Given the description of an element on the screen output the (x, y) to click on. 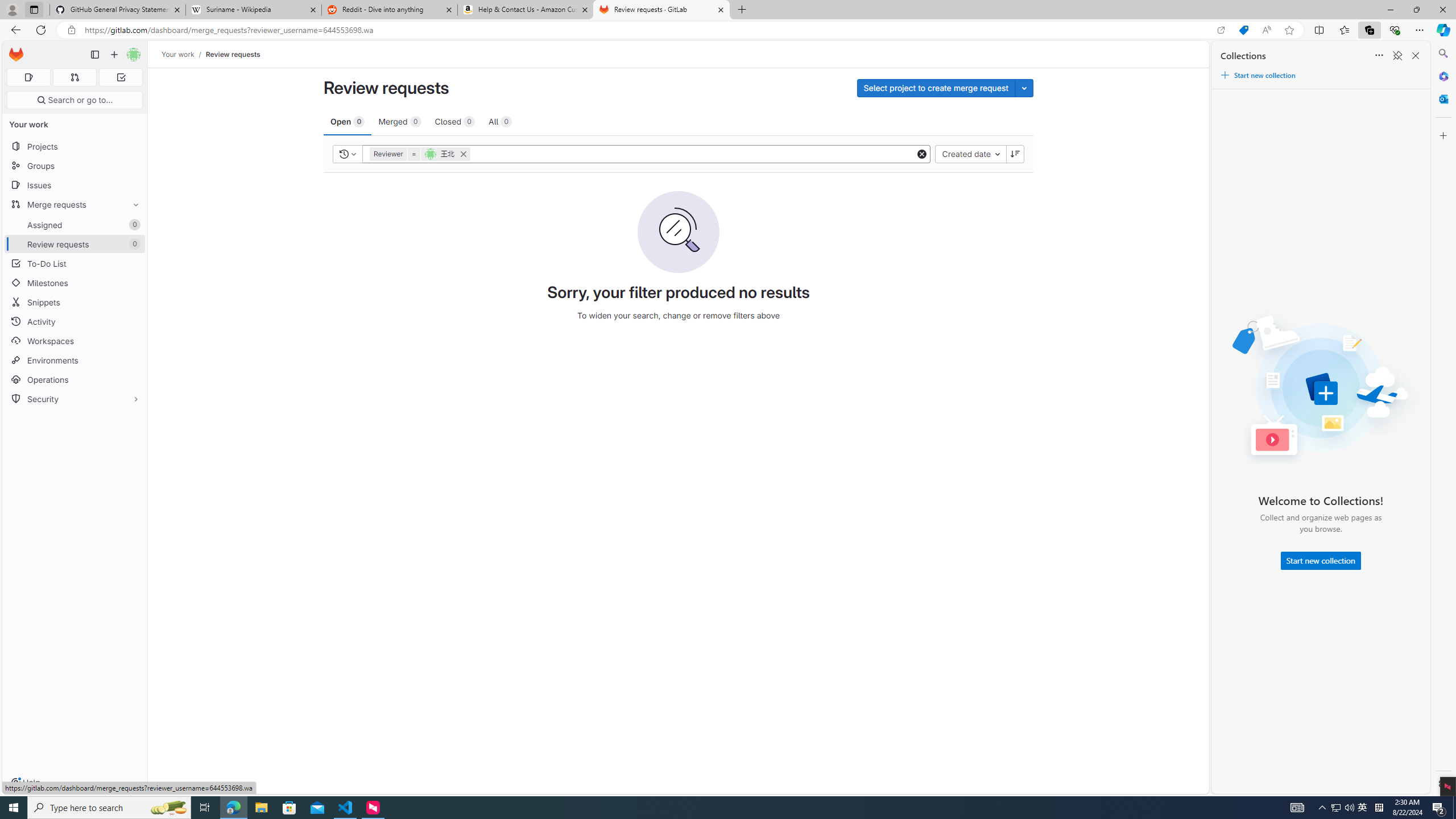
Created date (970, 153)
Merged 0 (399, 121)
Issues (74, 185)
Groups (74, 165)
Projects (74, 145)
Review requests0 (74, 244)
Sort direction (1015, 153)
Open 0 (347, 121)
Snippets (74, 302)
Activity (74, 321)
All 0 (500, 121)
